Given the description of an element on the screen output the (x, y) to click on. 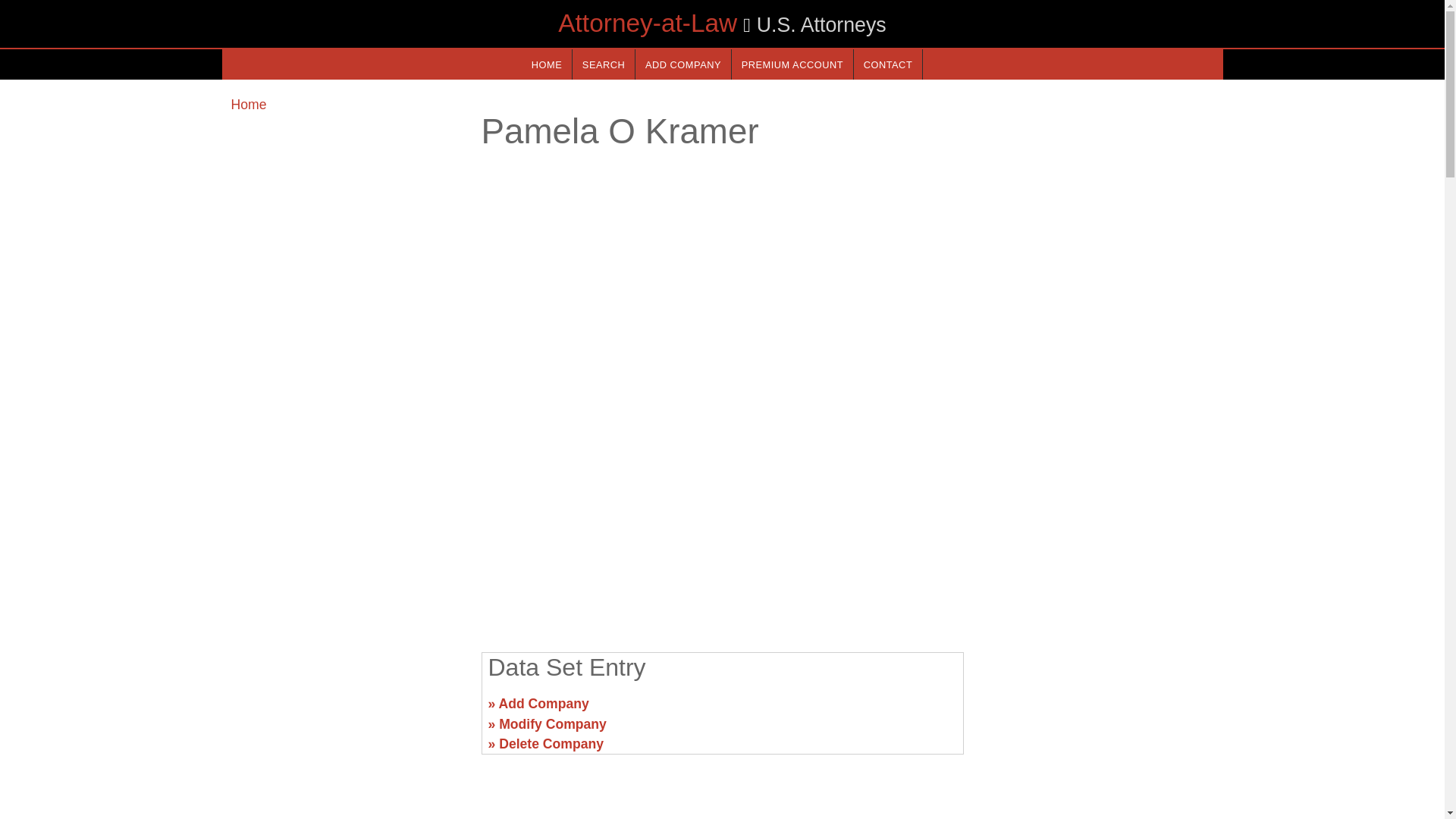
Search in this webseite (603, 64)
Add a new company (682, 64)
PREMIUM ACCOUNT (792, 64)
CONTACT (887, 64)
ADD COMPANY (682, 64)
HOME (546, 64)
Advertisement (721, 522)
SEARCH (603, 64)
Advertisement (1096, 710)
